Given the description of an element on the screen output the (x, y) to click on. 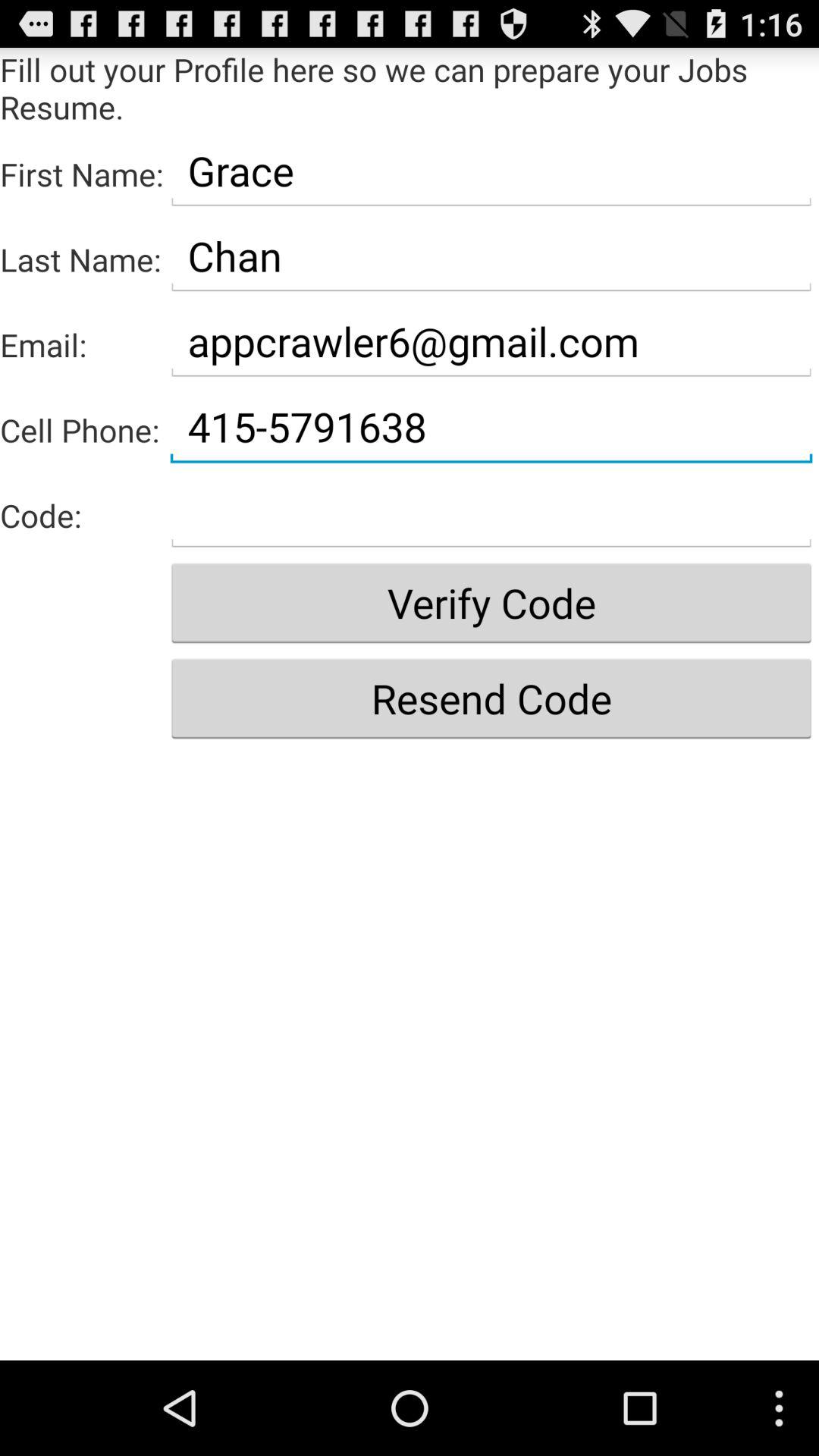
write code to verify (491, 512)
